Given the description of an element on the screen output the (x, y) to click on. 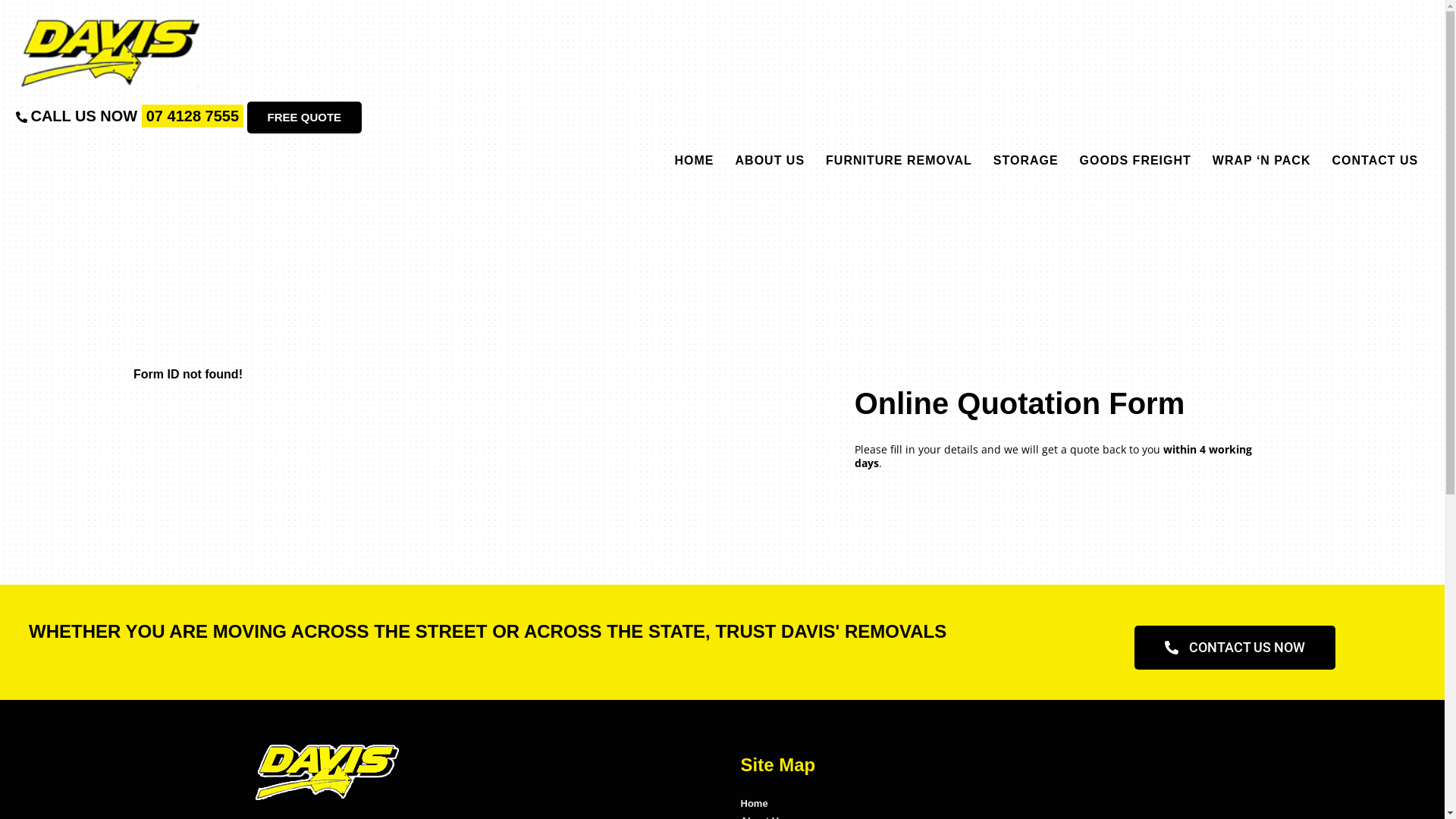
CONTACT US NOW Element type: text (1234, 647)
HOME Element type: text (694, 160)
Home Element type: text (753, 803)
CONTACT US Element type: text (1374, 160)
ABOUT US Element type: text (769, 160)
FURNITURE REMOVAL Element type: text (898, 160)
GOODS FREIGHT Element type: text (1135, 160)
CALL US NOW 07 4128 7555 Element type: text (136, 115)
FREE QUOTE Element type: text (304, 117)
STORAGE Element type: text (1025, 160)
